Given the description of an element on the screen output the (x, y) to click on. 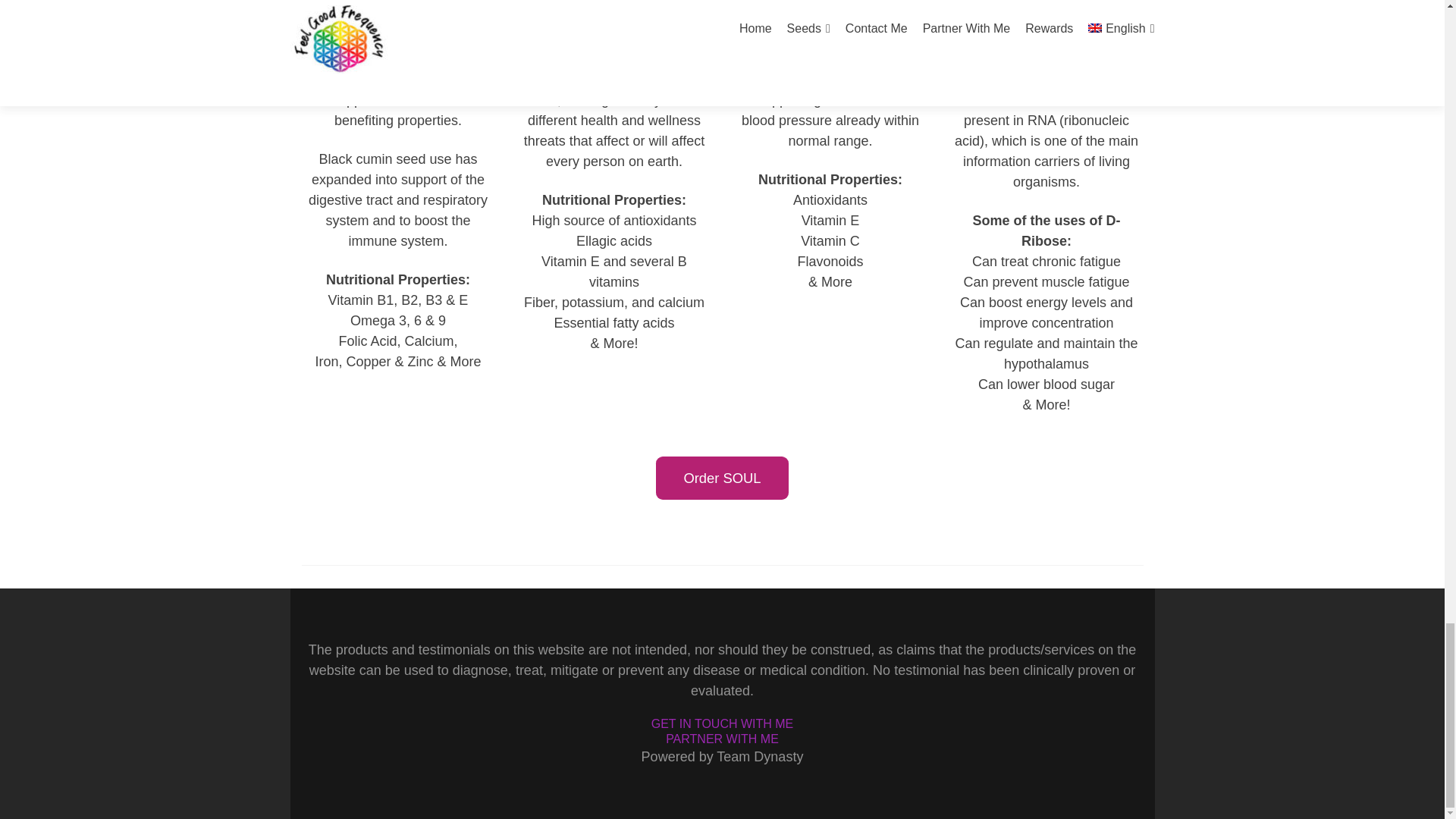
GET IN TOUCH WITH ME (721, 723)
Order SOUL (722, 477)
PARTNER WITH ME (721, 738)
